Given the description of an element on the screen output the (x, y) to click on. 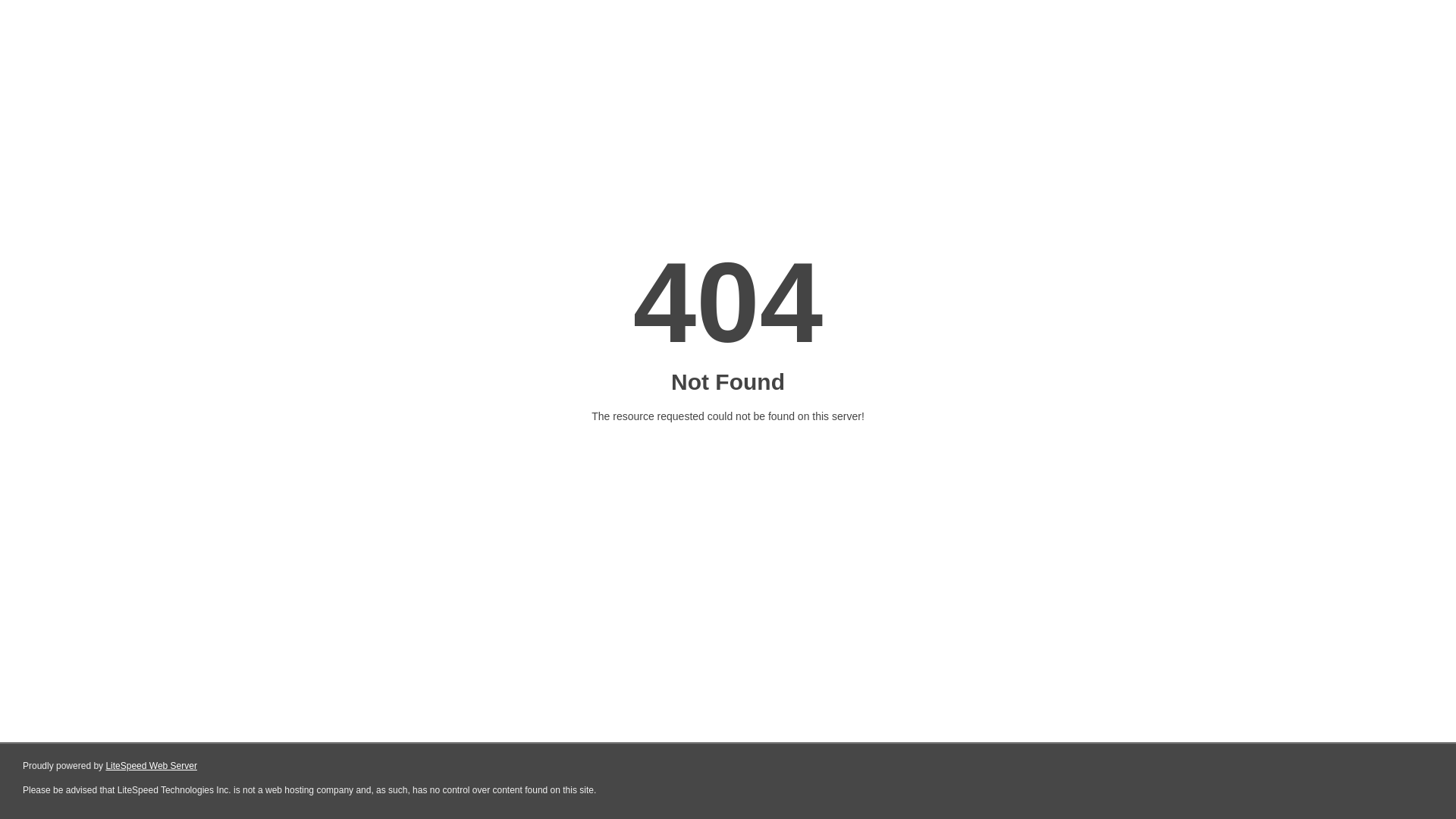
LiteSpeed Web Server Element type: text (151, 765)
